Given the description of an element on the screen output the (x, y) to click on. 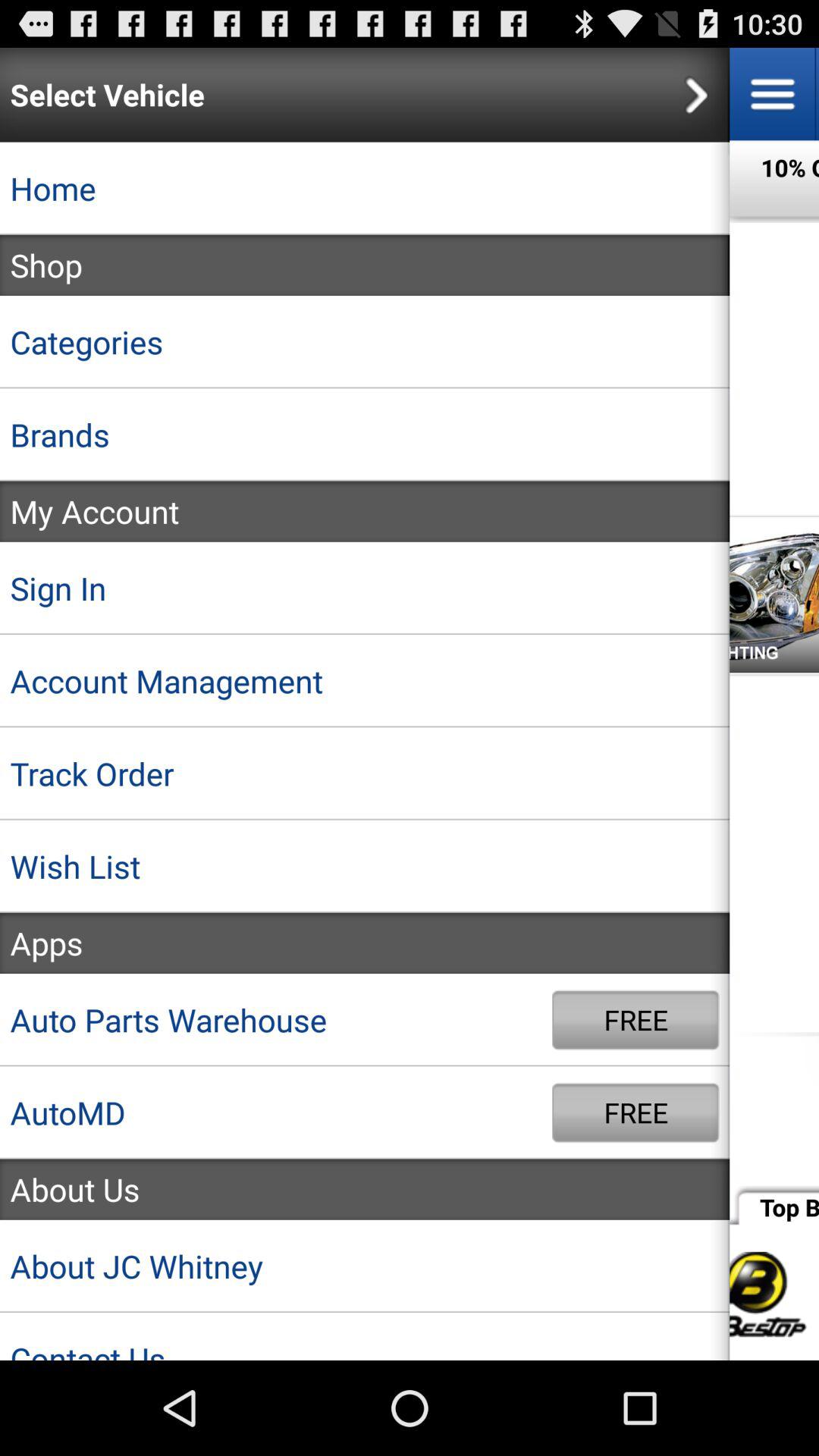
turn on app above brands icon (364, 341)
